Given the description of an element on the screen output the (x, y) to click on. 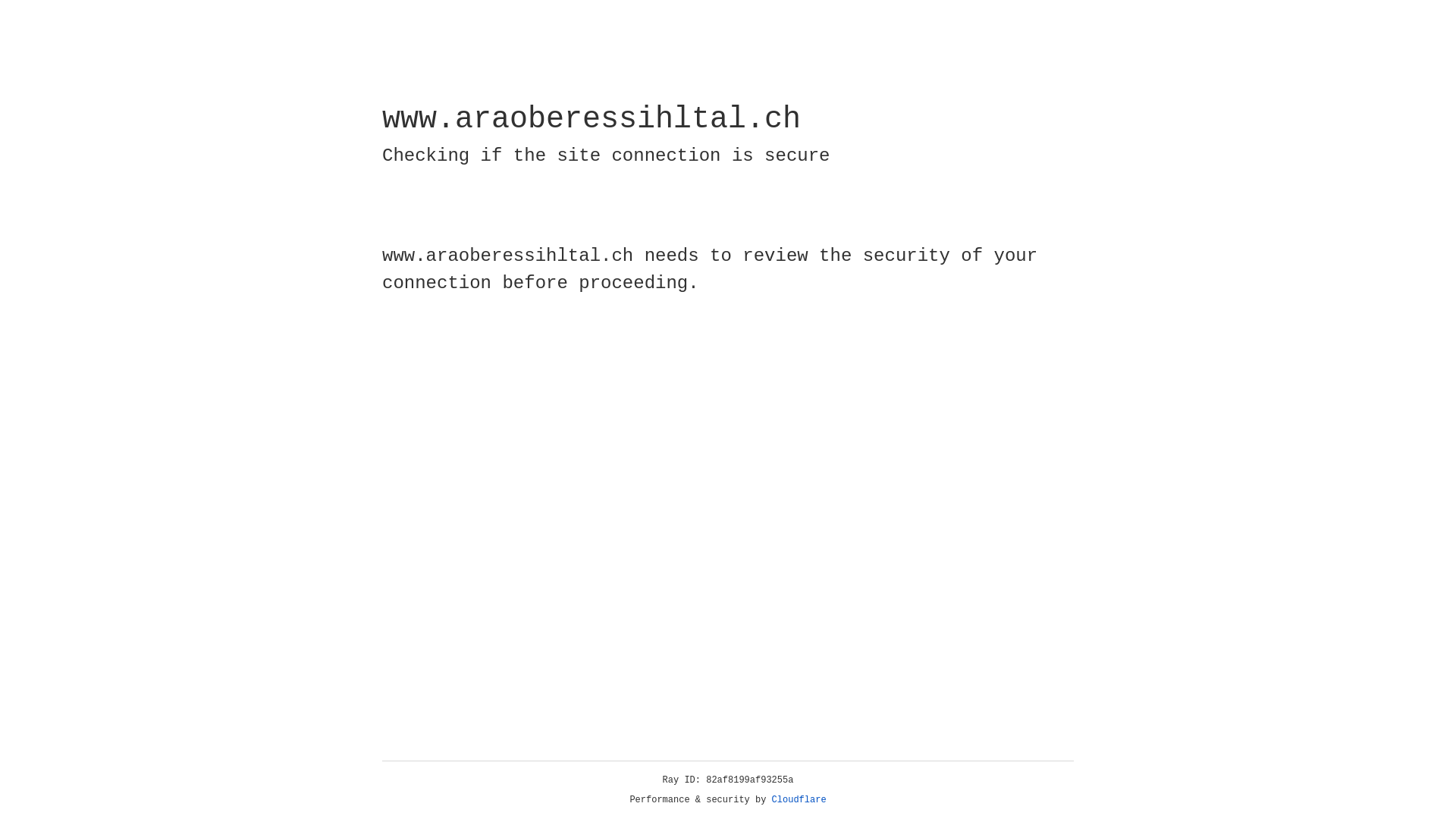
Cloudflare Element type: text (798, 799)
